Given the description of an element on the screen output the (x, y) to click on. 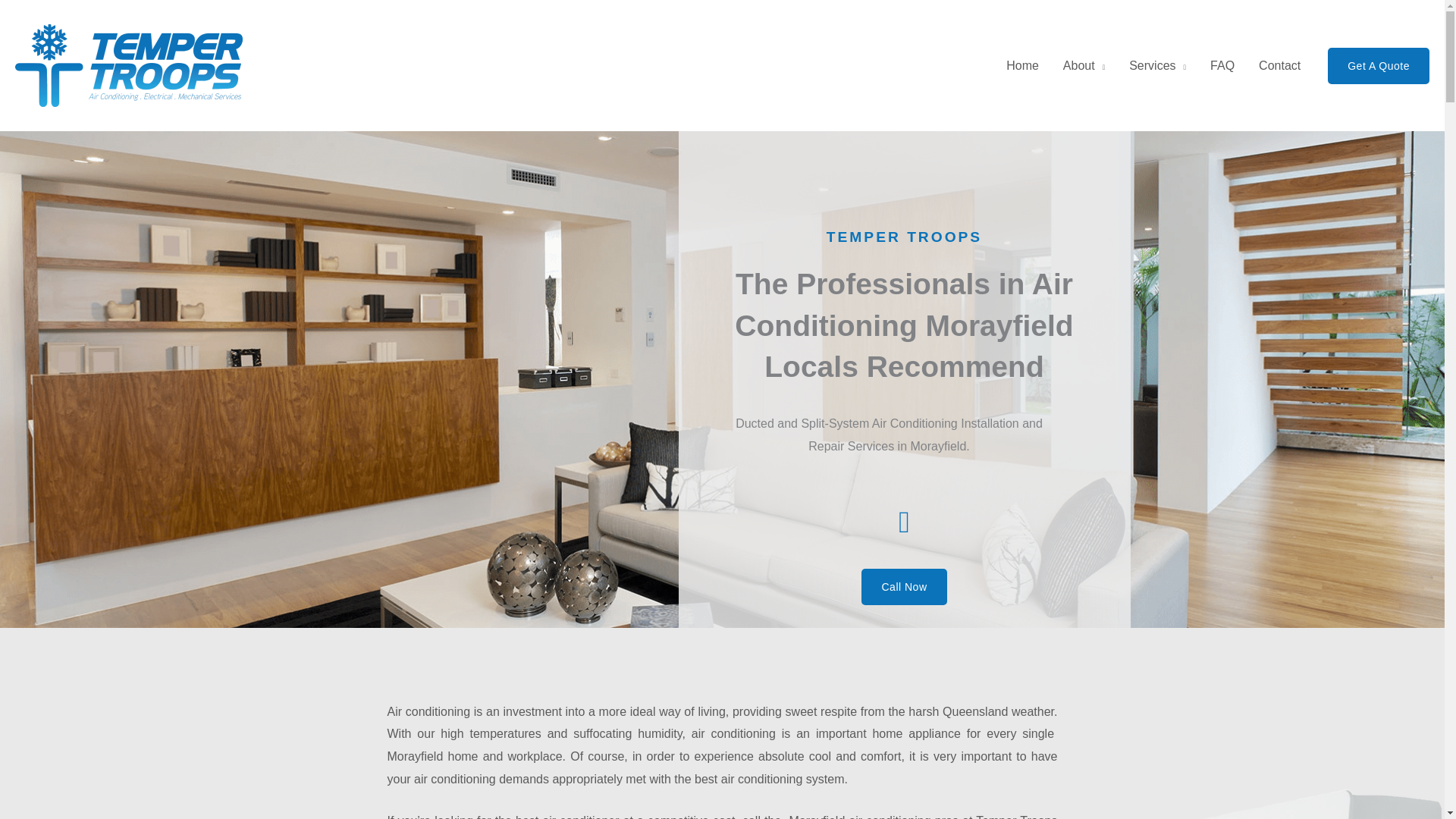
Contact (1279, 65)
FAQ (1222, 65)
About (1083, 65)
Get A Quote (1378, 64)
Home (1022, 65)
Services (1157, 65)
